Given the description of an element on the screen output the (x, y) to click on. 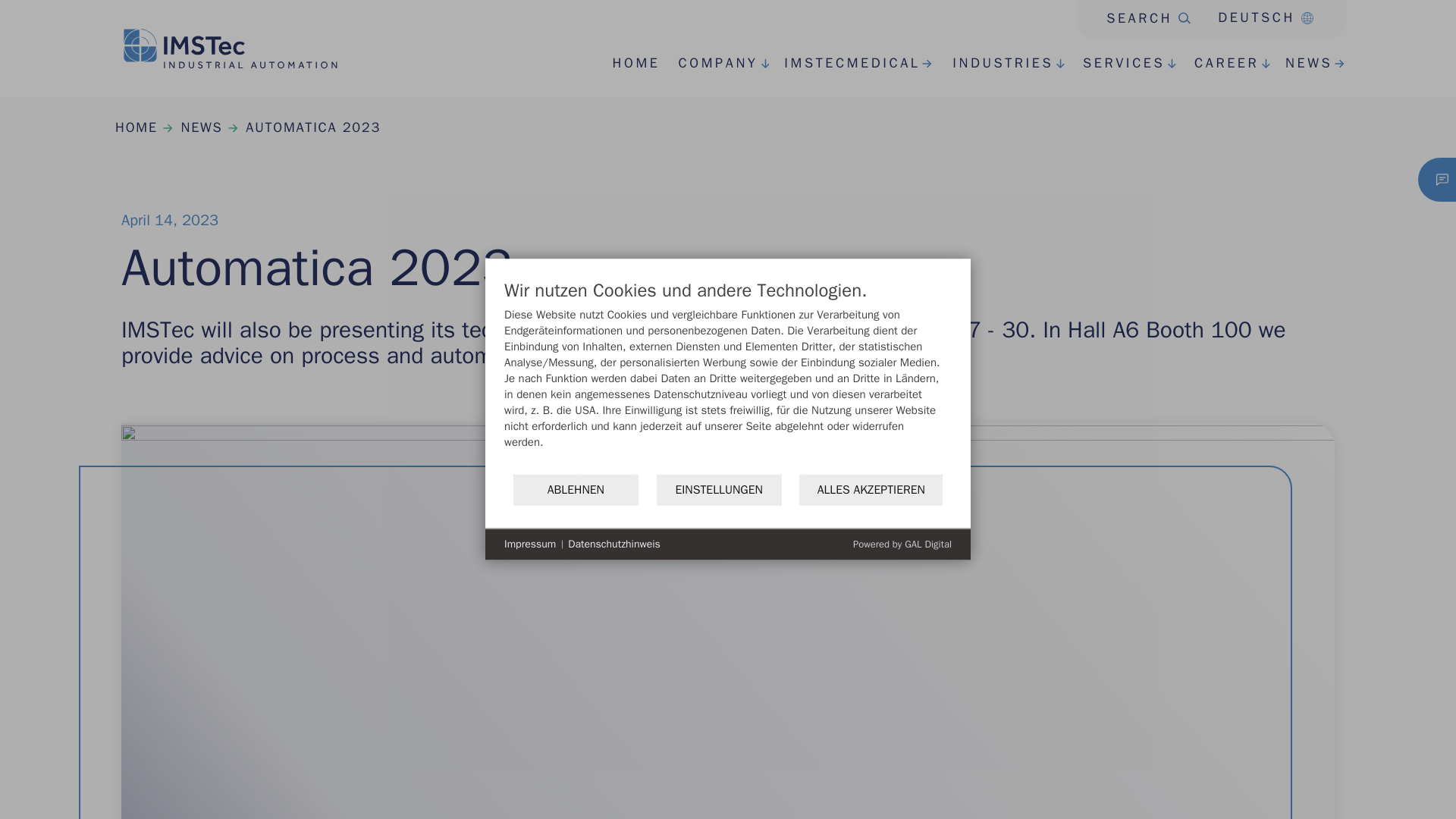
NEWS (1300, 63)
DEUTSCH (1259, 18)
Cookie Consent Manager (902, 543)
COMPANY (708, 63)
INDUSTRIES (993, 63)
SEARCH (1133, 13)
IMSTECMEDICAL (844, 63)
CAREER (1217, 63)
SERVICES (1114, 63)
